Given the description of an element on the screen output the (x, y) to click on. 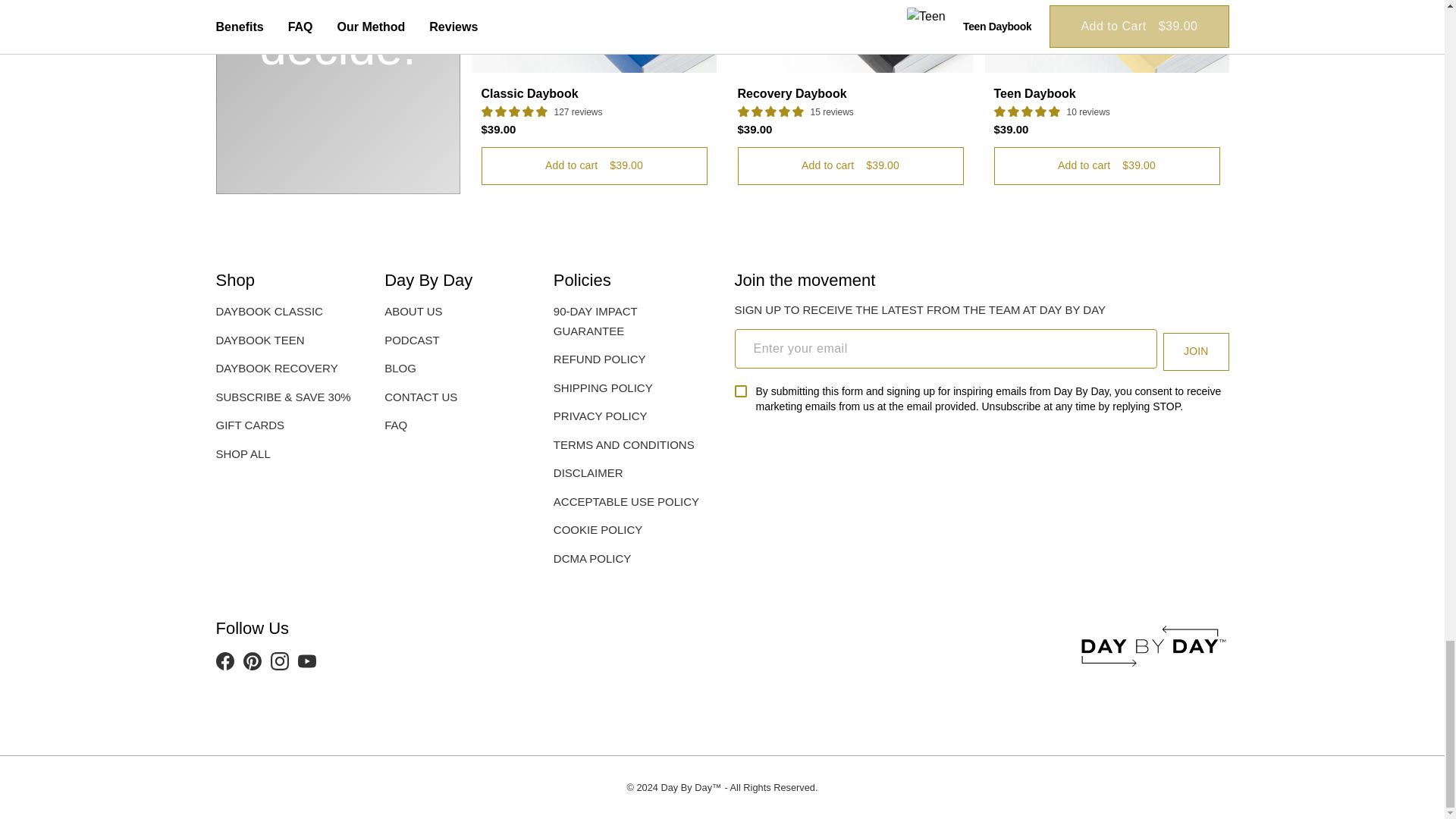
footer-checkbox (739, 390)
